Given the description of an element on the screen output the (x, y) to click on. 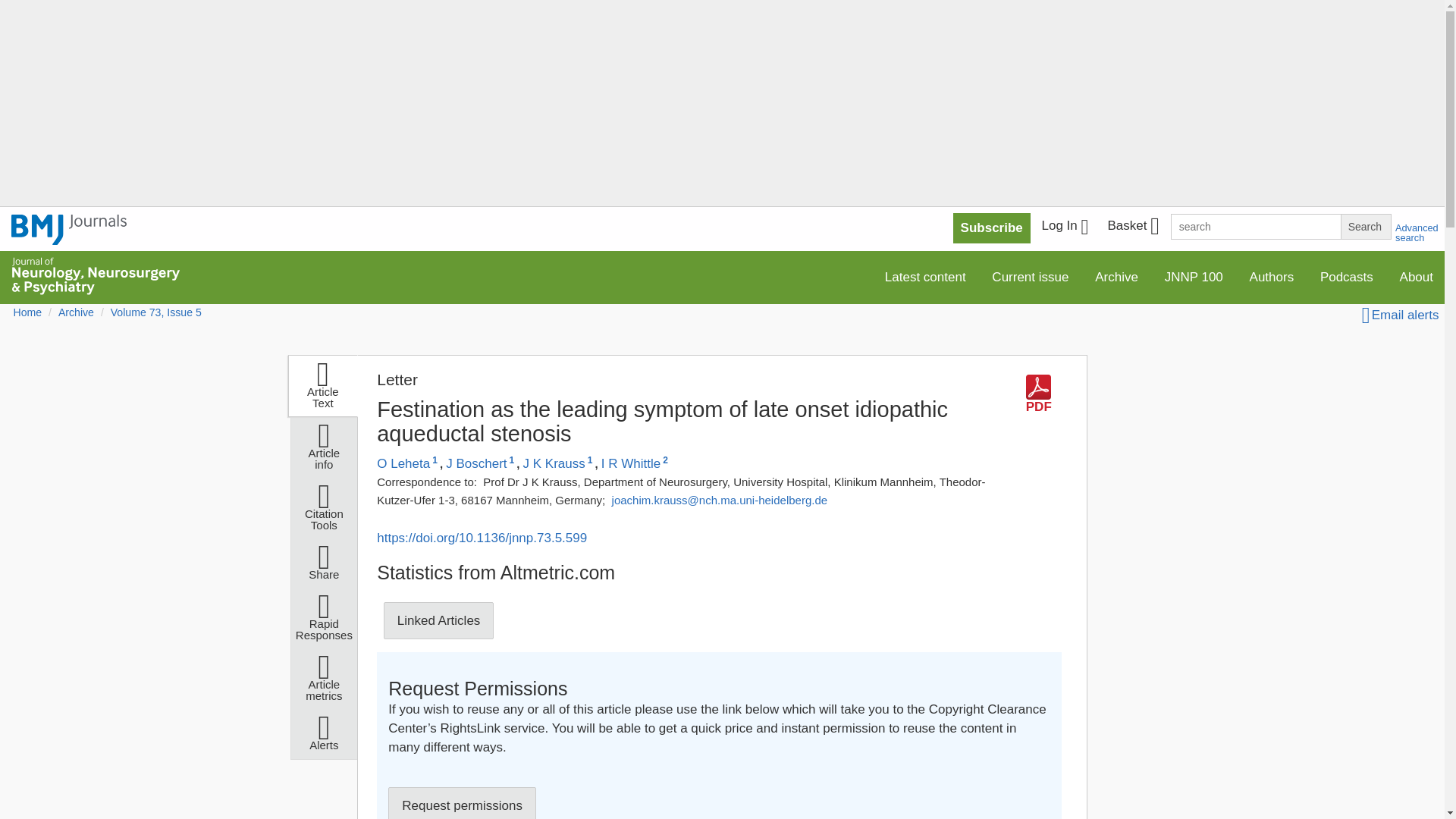
Search (1364, 226)
BMJ Journals (68, 229)
JNNP 100 (1193, 276)
Latest content (924, 276)
Search (1364, 226)
Archive (1116, 276)
BMJ Journals (68, 237)
Authors (1272, 276)
Current issue (1029, 276)
